Given the description of an element on the screen output the (x, y) to click on. 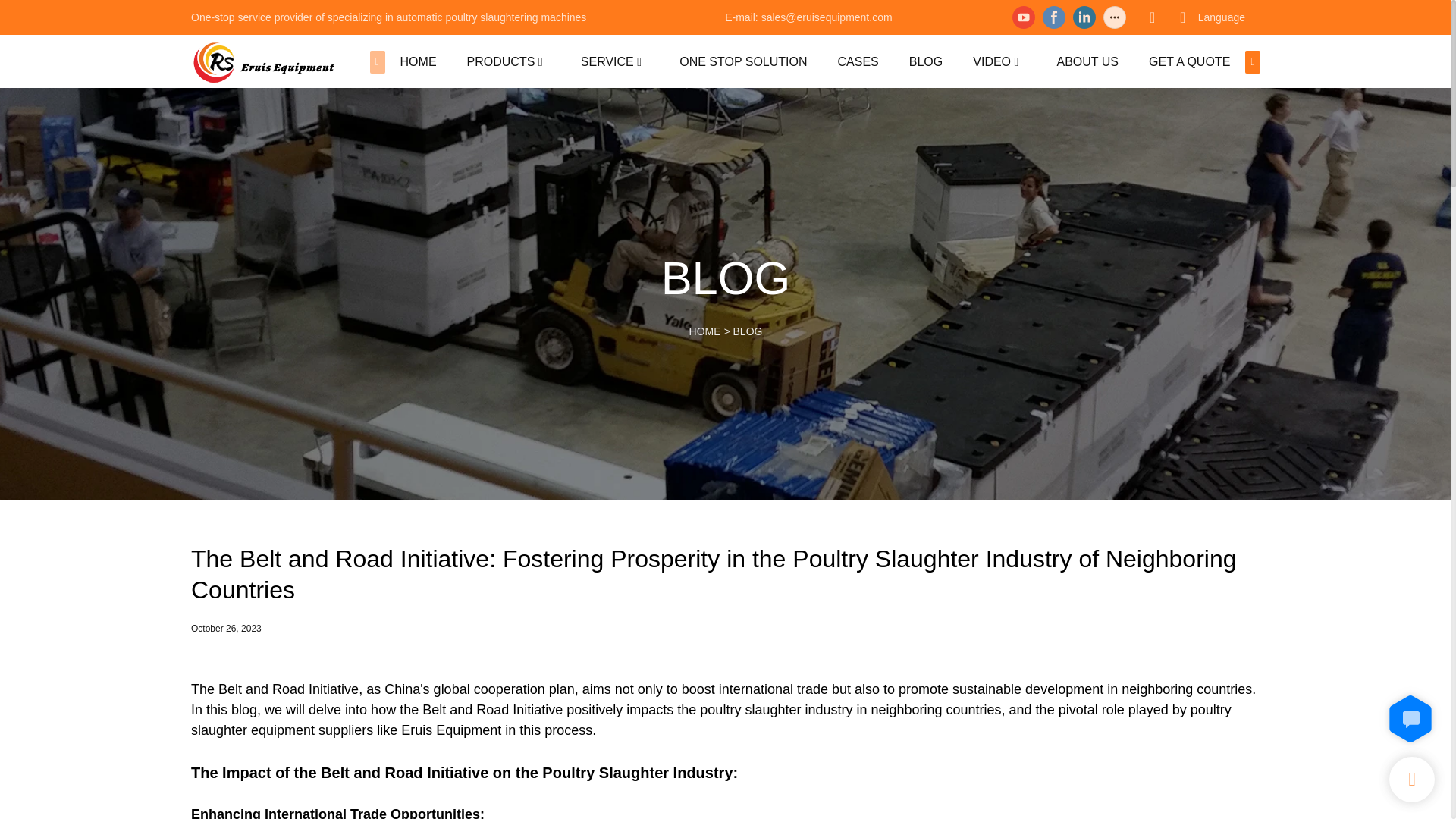
facebook (1053, 17)
PRODUCTS (501, 61)
SERVICE (606, 61)
linkedin (1083, 17)
HOME (418, 61)
youtube (1024, 17)
ONE STOP SOLUTION (742, 61)
